Given the description of an element on the screen output the (x, y) to click on. 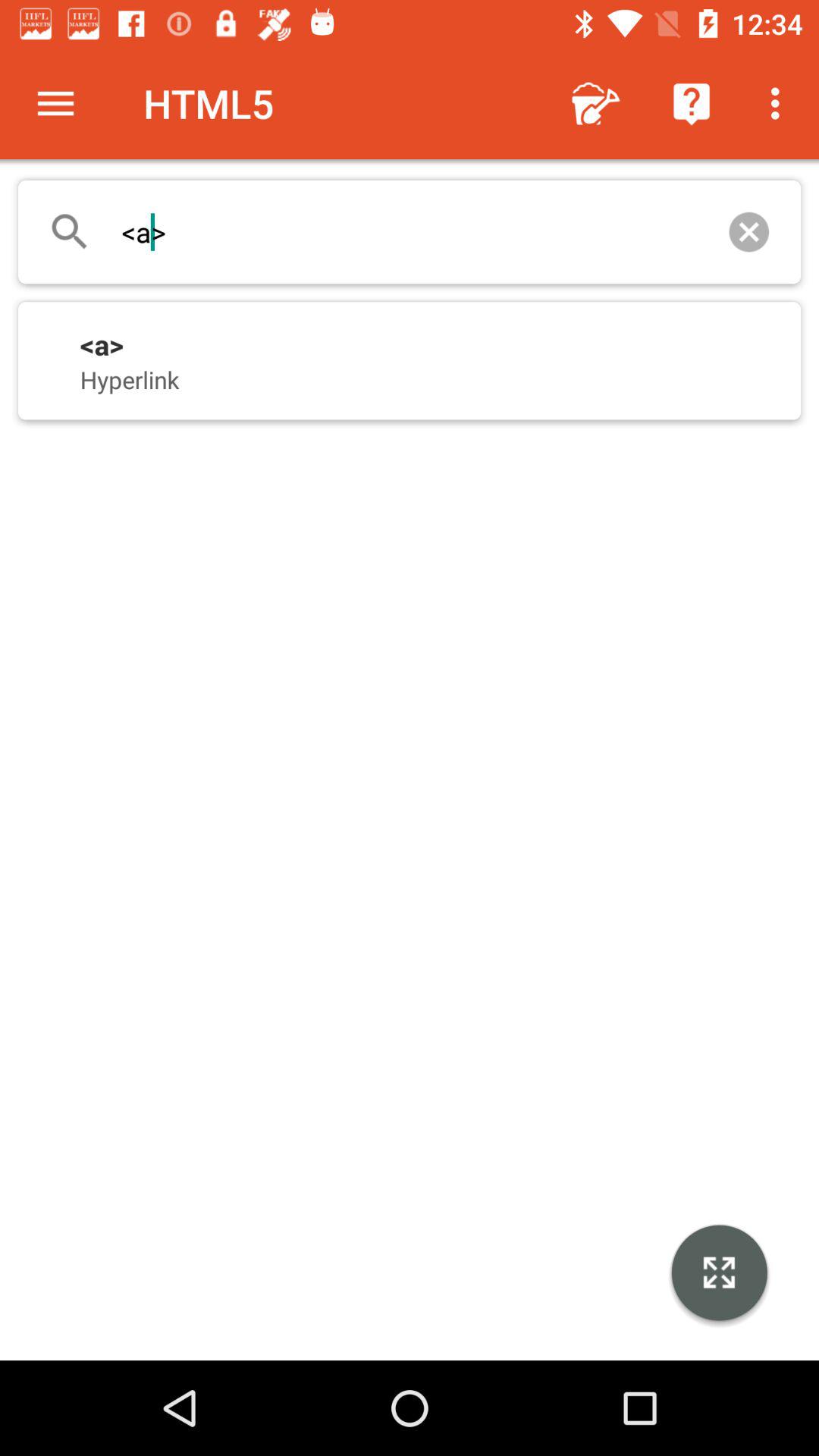
launch the app next to html5 (55, 103)
